Given the description of an element on the screen output the (x, y) to click on. 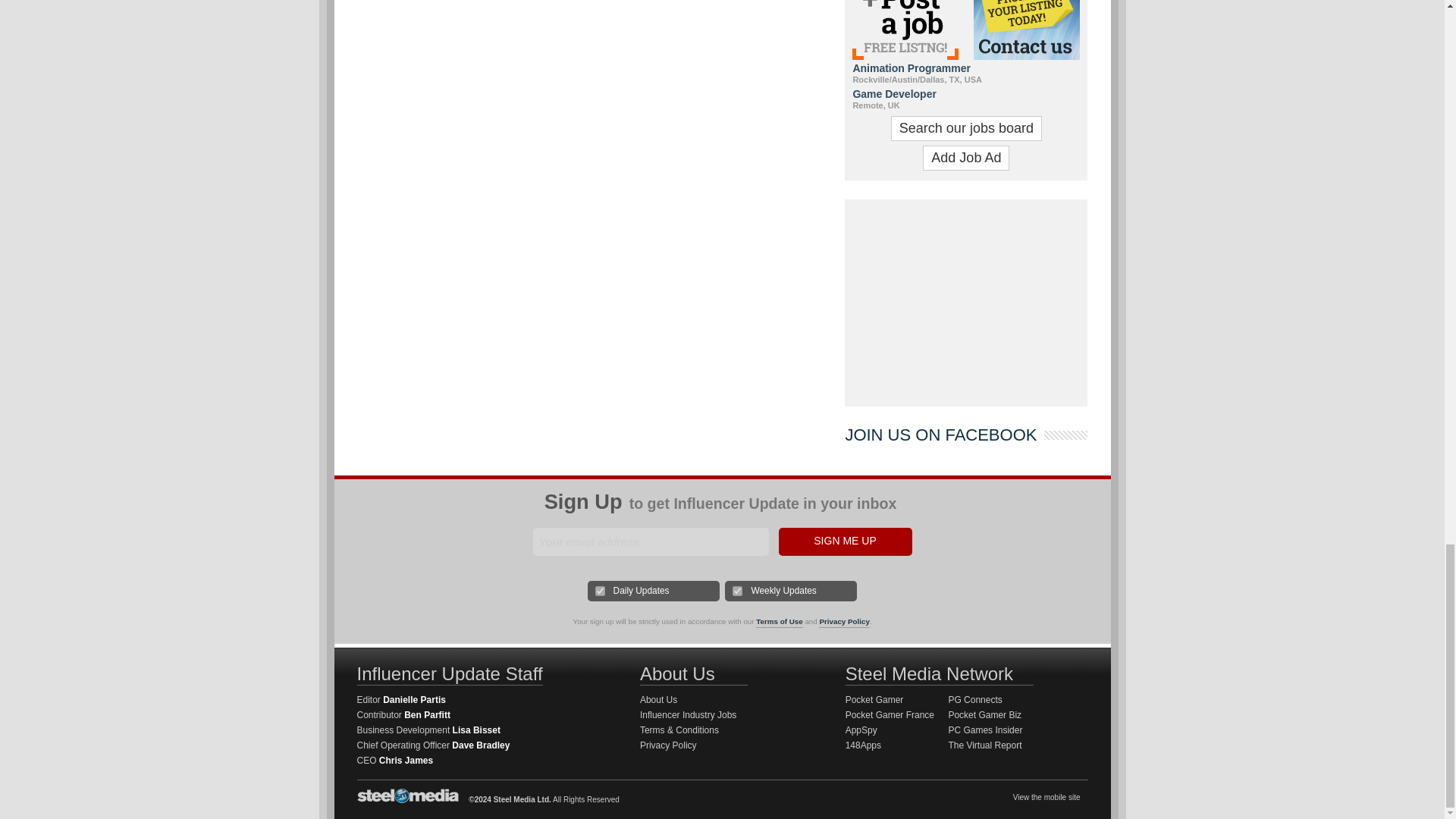
SIGN ME UP (844, 541)
1 (600, 591)
2 (737, 591)
